Given the description of an element on the screen output the (x, y) to click on. 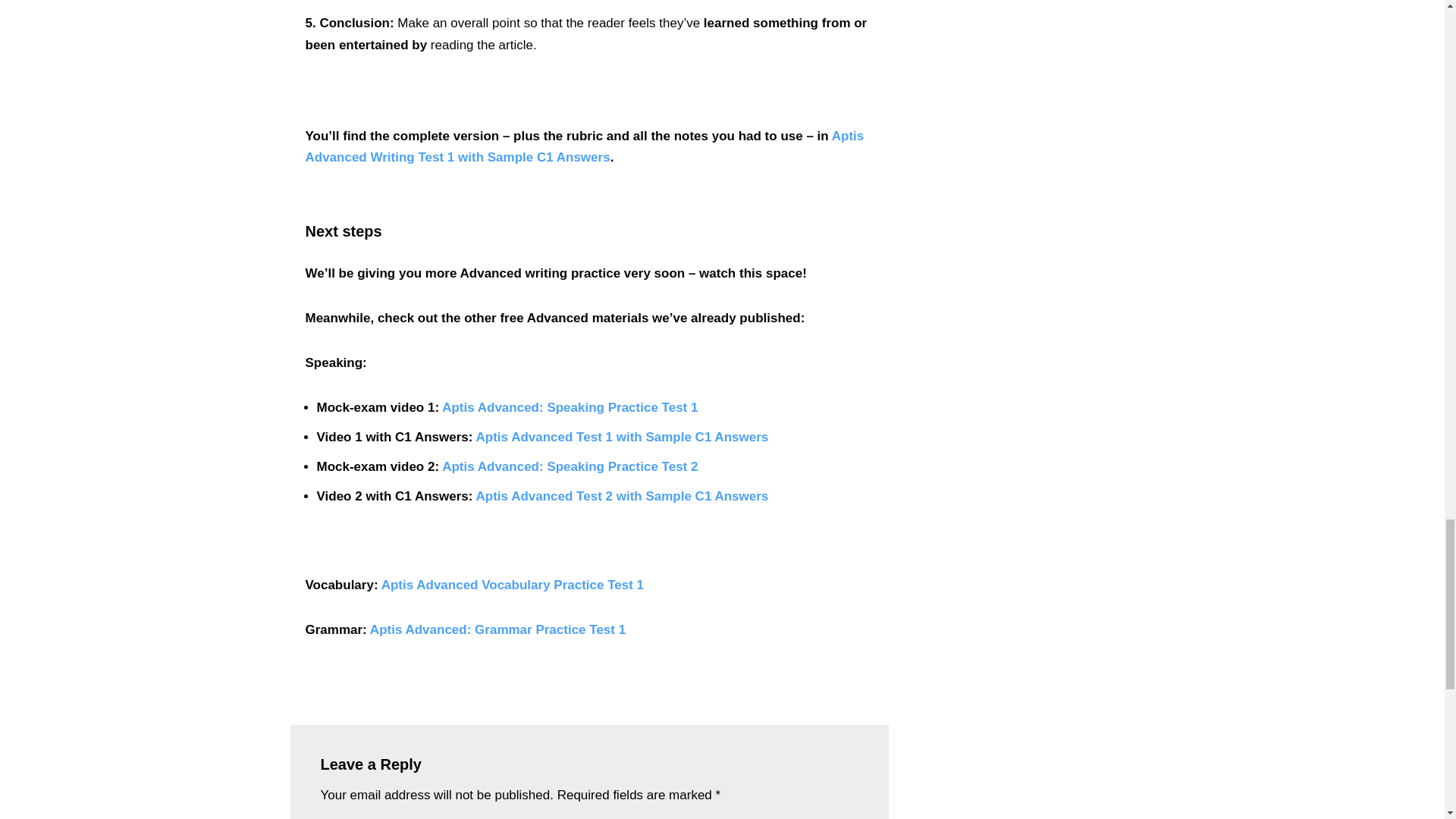
Aptis Advanced: Speaking Practice Test 1 (569, 407)
Aptis Advanced: Grammar Practice Test 1 (497, 629)
Aptis Advanced Writing Test 1 with Sample C1 Answers (583, 146)
Aptis Advanced Test 1 with Sample C1 Answers (622, 436)
Aptis Advanced Test 2 with Sample C1 Answers (622, 495)
Aptis Advanced Vocabulary Practice Test 1 (512, 585)
Aptis Advanced: Speaking Practice Test 2 (569, 466)
